Given the description of an element on the screen output the (x, y) to click on. 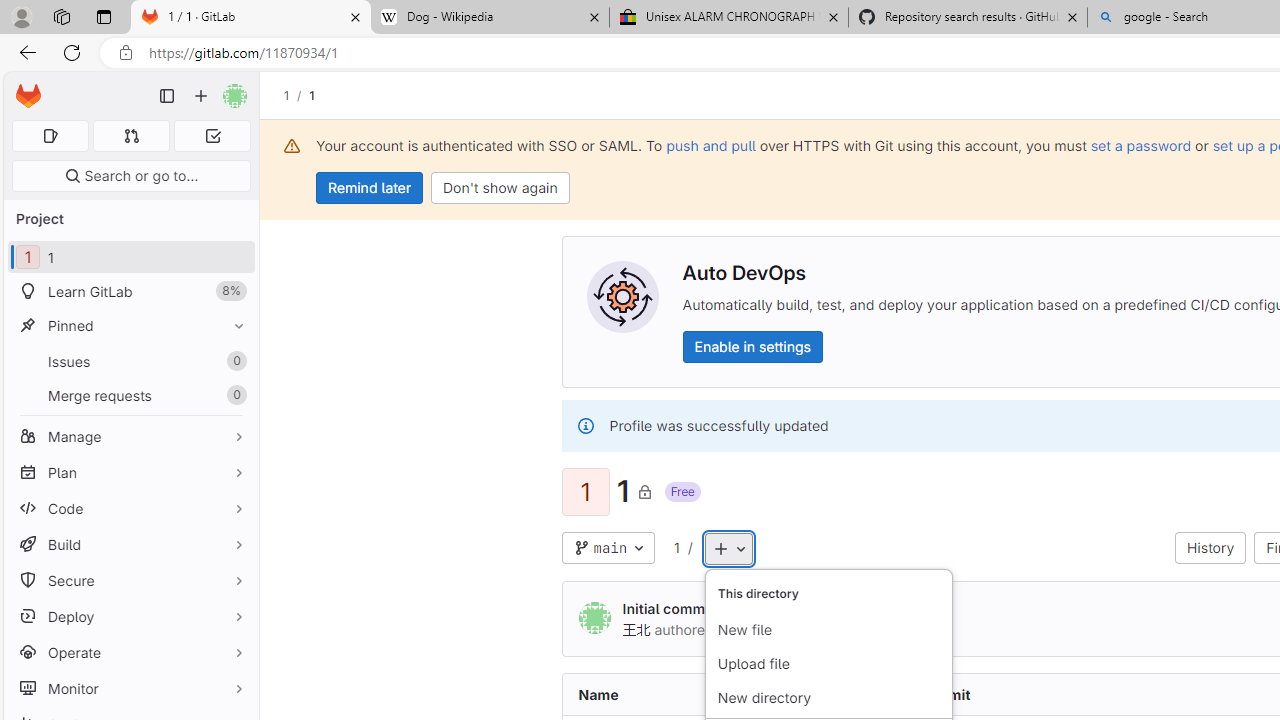
New fileUpload fileNew directory (828, 643)
Enable in settings (752, 346)
Initial commit (668, 608)
Manage (130, 435)
New directory (828, 697)
Primary navigation sidebar (167, 96)
Monitor (130, 687)
Build (130, 543)
Merge requests 0 (131, 136)
Upload file (828, 664)
Name (715, 694)
Secure (130, 579)
